Given the description of an element on the screen output the (x, y) to click on. 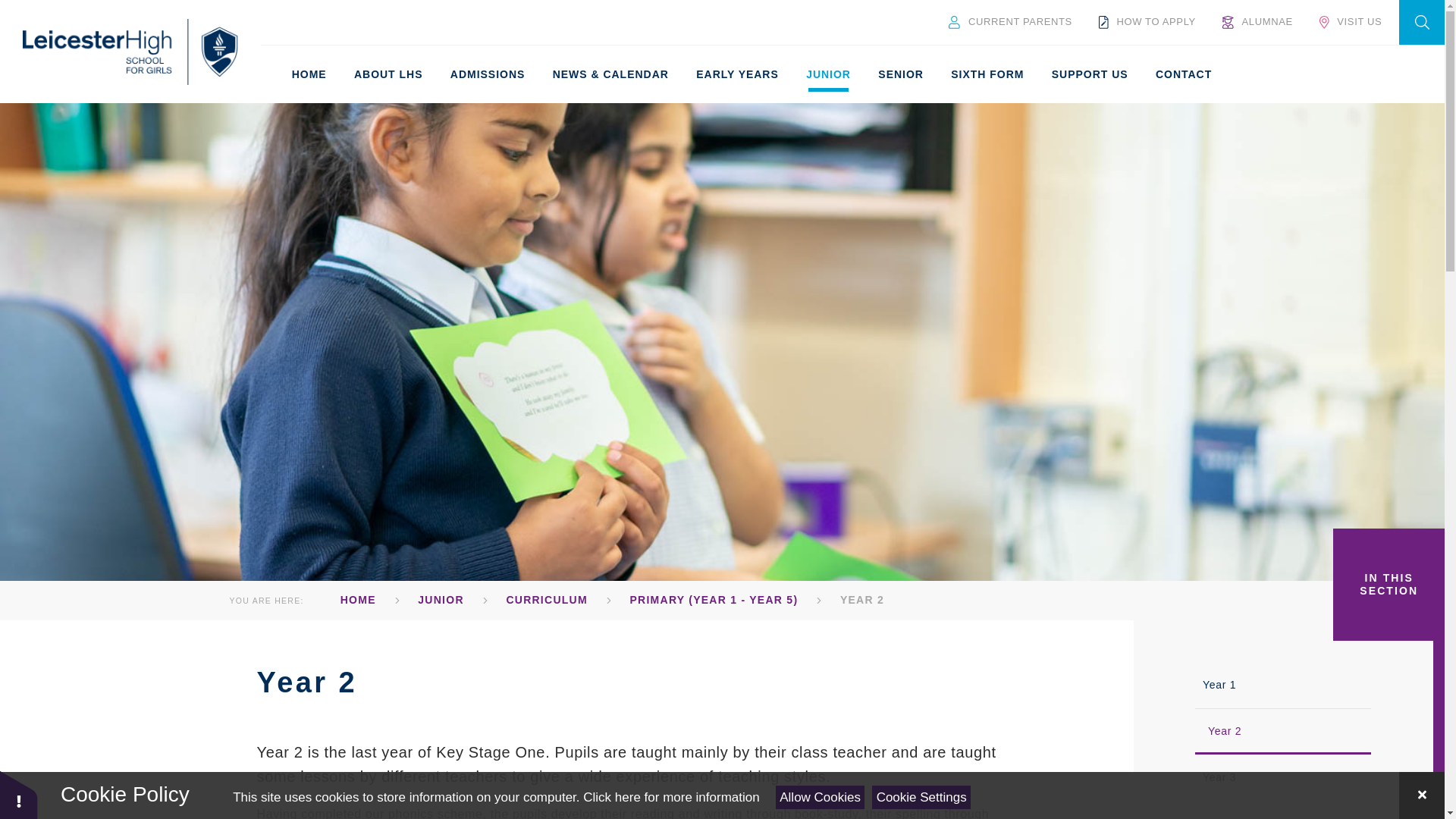
ABOUT LHS (388, 74)
ADMISSIONS (487, 74)
Allow Cookies (820, 797)
Cookie Settings (921, 797)
HOME (308, 74)
See cookie policy (670, 797)
